Given the description of an element on the screen output the (x, y) to click on. 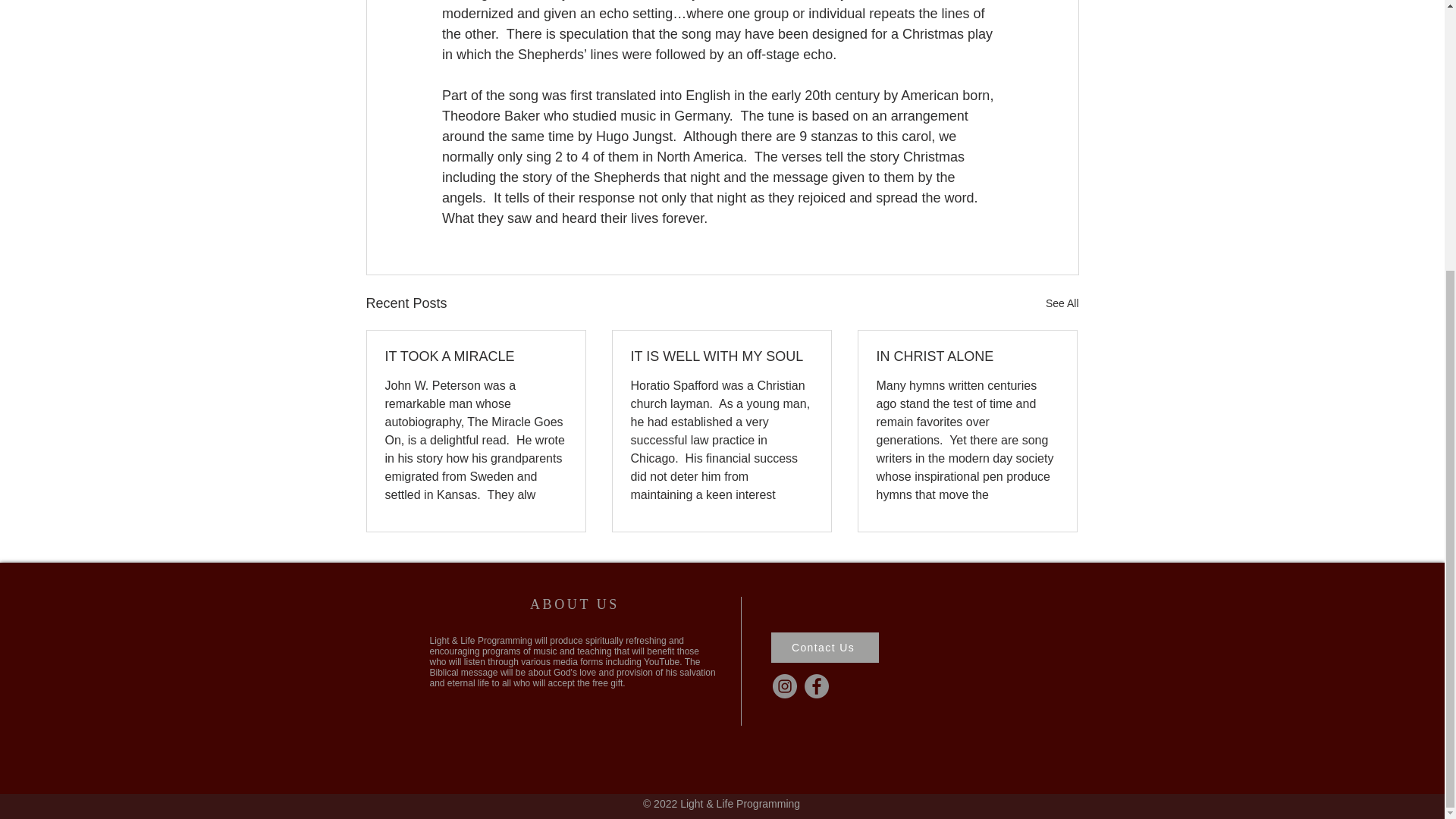
IT TOOK A MIRACLE (476, 356)
Contact Us (823, 647)
See All (1061, 303)
IT IS WELL WITH MY SOUL (721, 356)
IN CHRIST ALONE (967, 356)
